Given the description of an element on the screen output the (x, y) to click on. 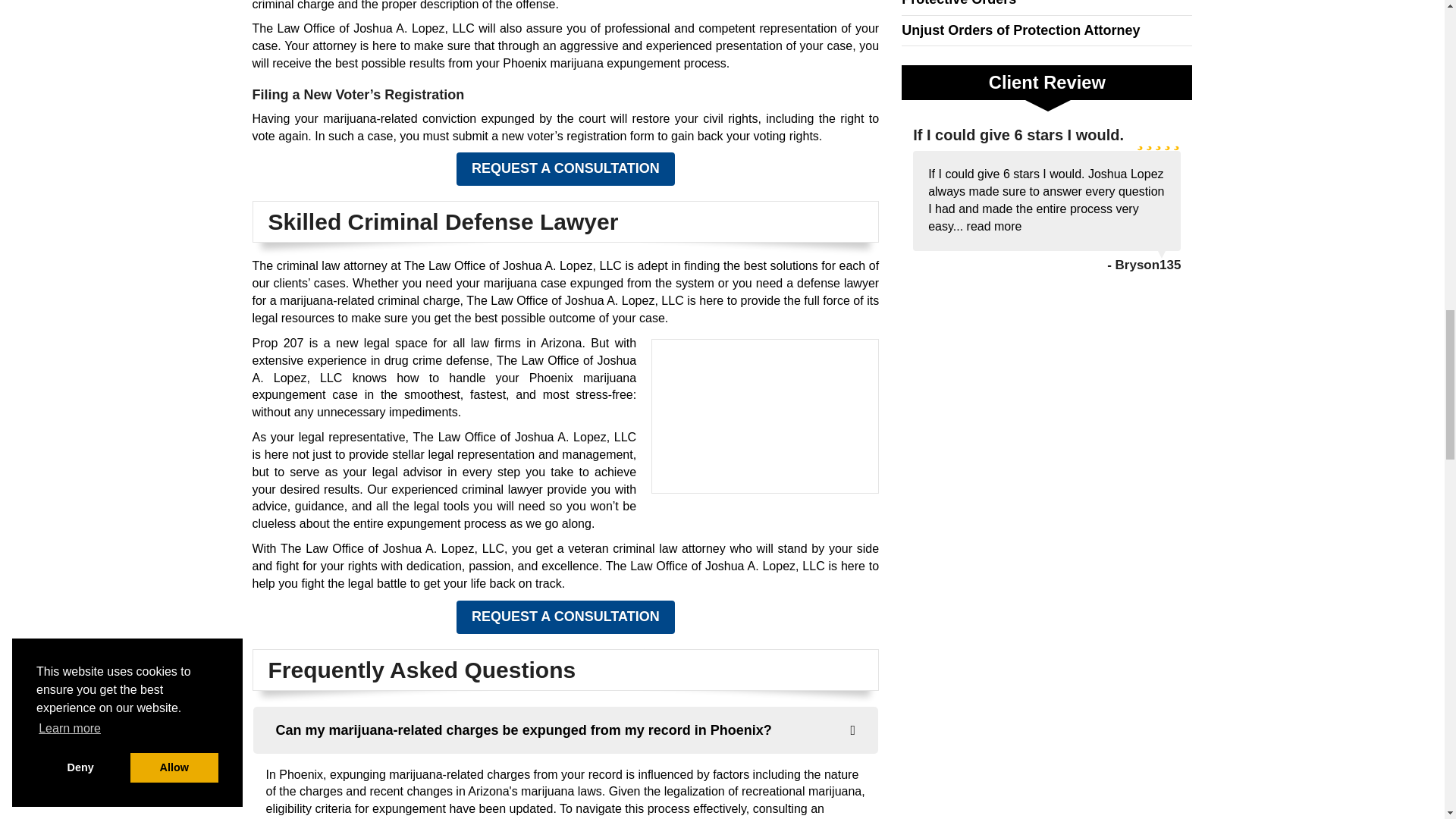
REQUEST A CONSULTATION (566, 168)
REQUEST A CONSULTATION (566, 616)
